Given the description of an element on the screen output the (x, y) to click on. 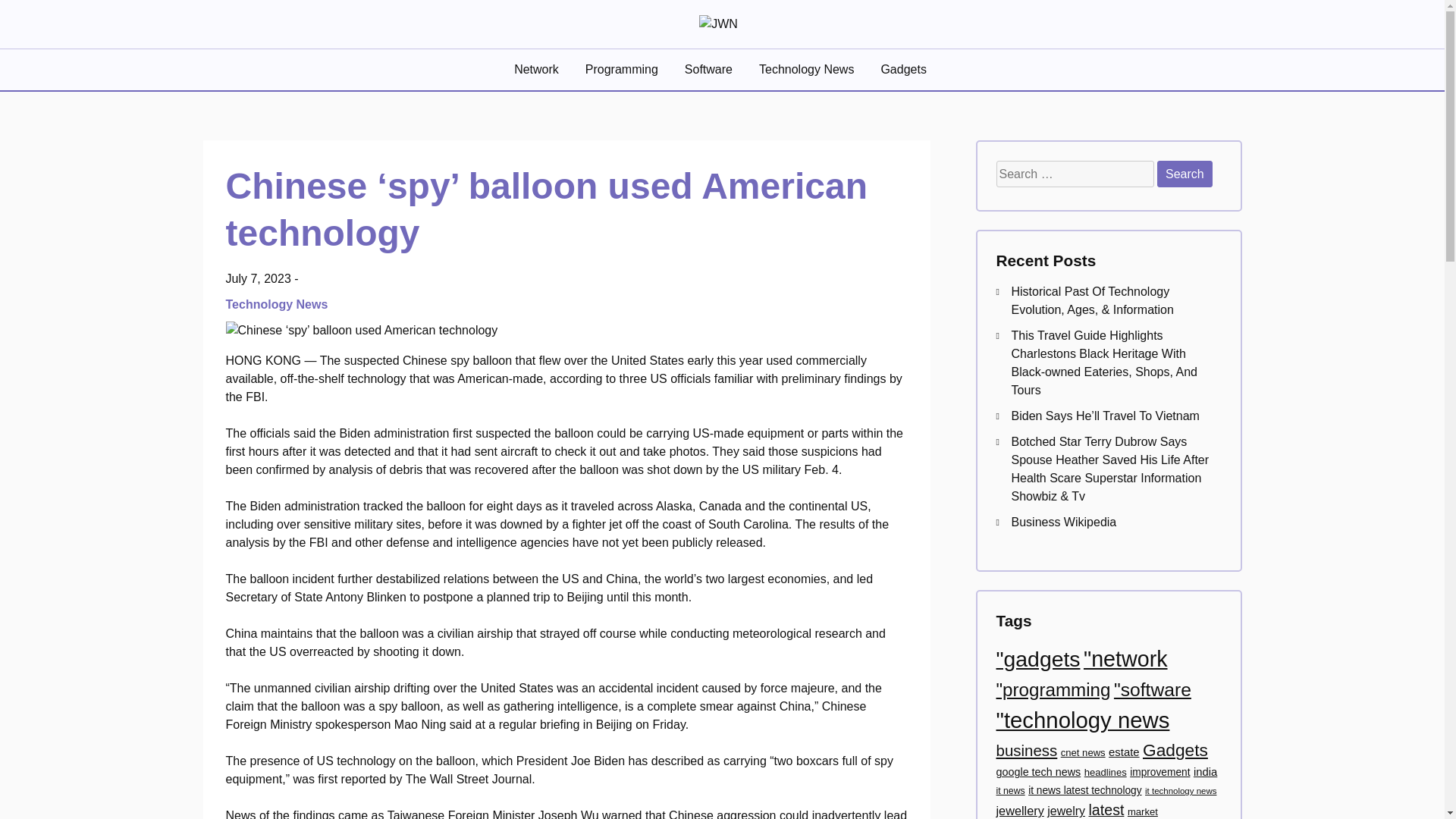
cnet news (1083, 752)
Search (1184, 173)
Business Wikipedia (1063, 521)
"network (1125, 658)
business (1026, 750)
July 7, 2023 (258, 278)
Search (1184, 173)
Technology News (808, 69)
Software (710, 69)
